Given the description of an element on the screen output the (x, y) to click on. 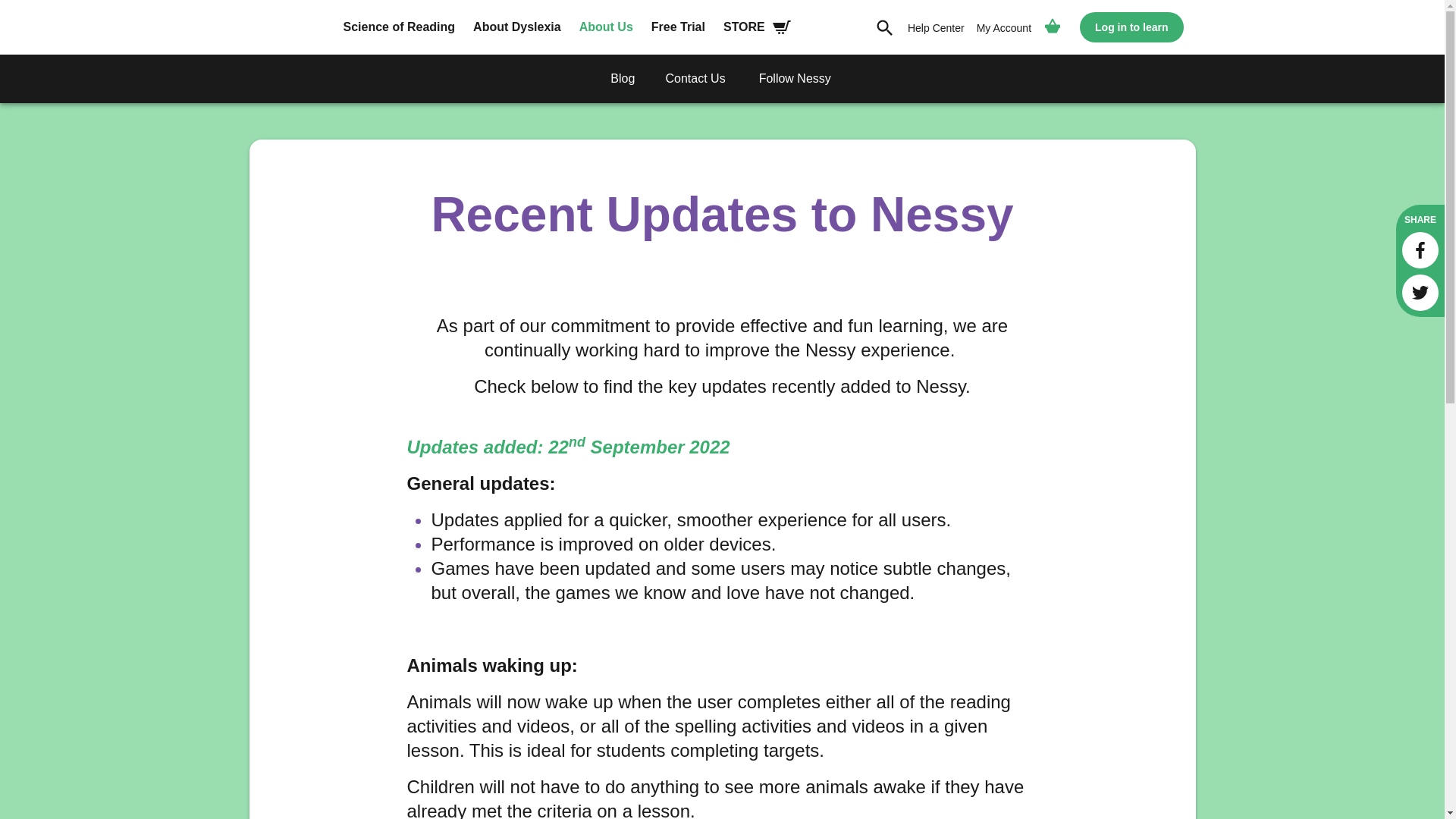
Help Center (936, 28)
About Dyslexia (517, 26)
Follow Nessy (794, 78)
My Account (1003, 28)
Basket (1051, 28)
Free Trial (678, 26)
Science of Reading (398, 26)
My Account (1003, 28)
Contact Us (695, 78)
Nessy (287, 39)
